Given the description of an element on the screen output the (x, y) to click on. 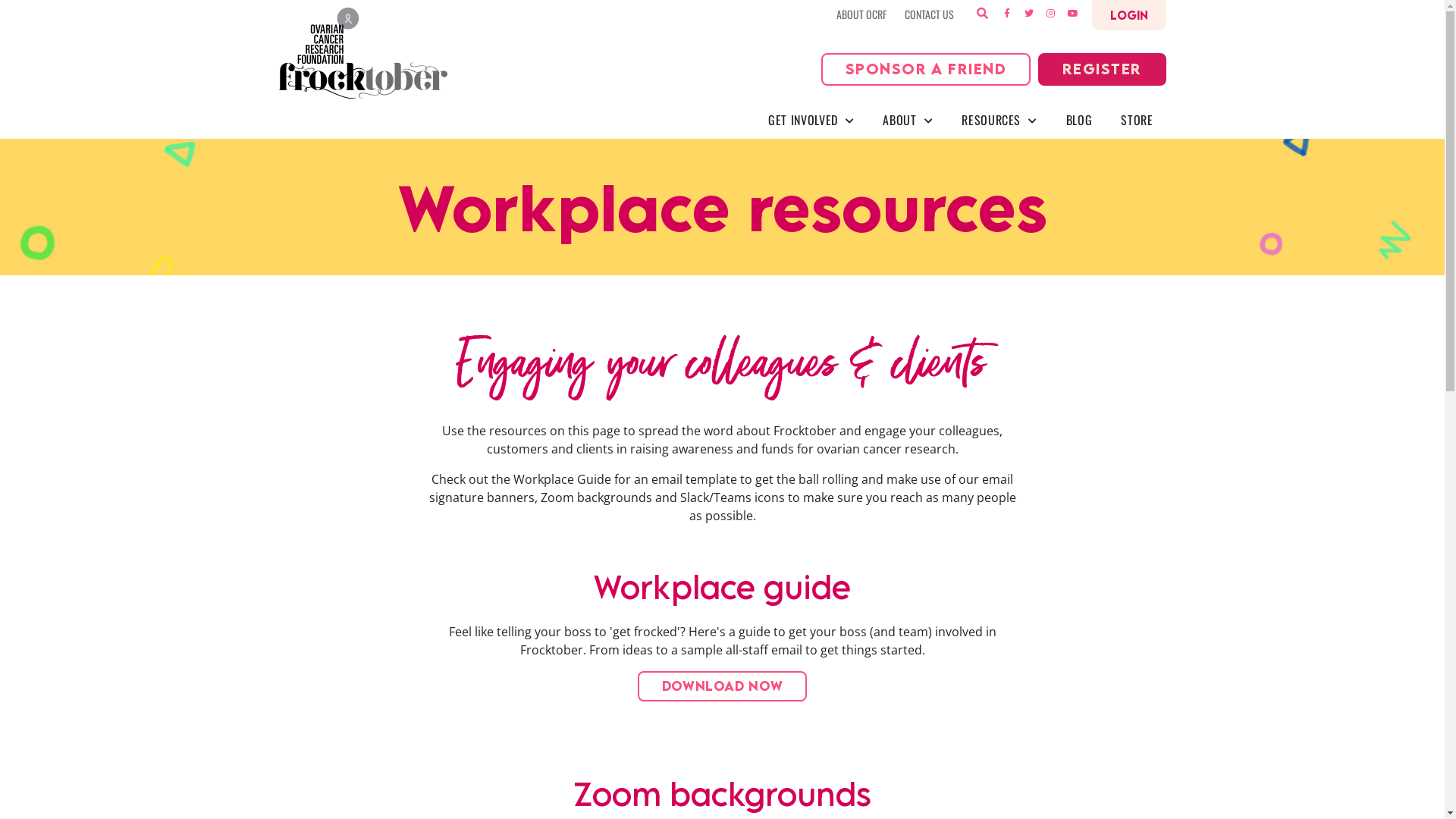
LOGIN Element type: text (1129, 15)
ABOUT Element type: text (907, 119)
REGISTER Element type: text (1102, 69)
CONTACT US Element type: text (928, 14)
RESOURCES Element type: text (998, 119)
SPONSOR A FRIEND Element type: text (925, 69)
STORE Element type: text (1136, 119)
BLOG Element type: text (1079, 119)
GET INVOLVED Element type: text (810, 119)
DOWNLOAD NOW Element type: text (722, 686)
ABOUT OCRF Element type: text (860, 14)
